Given the description of an element on the screen output the (x, y) to click on. 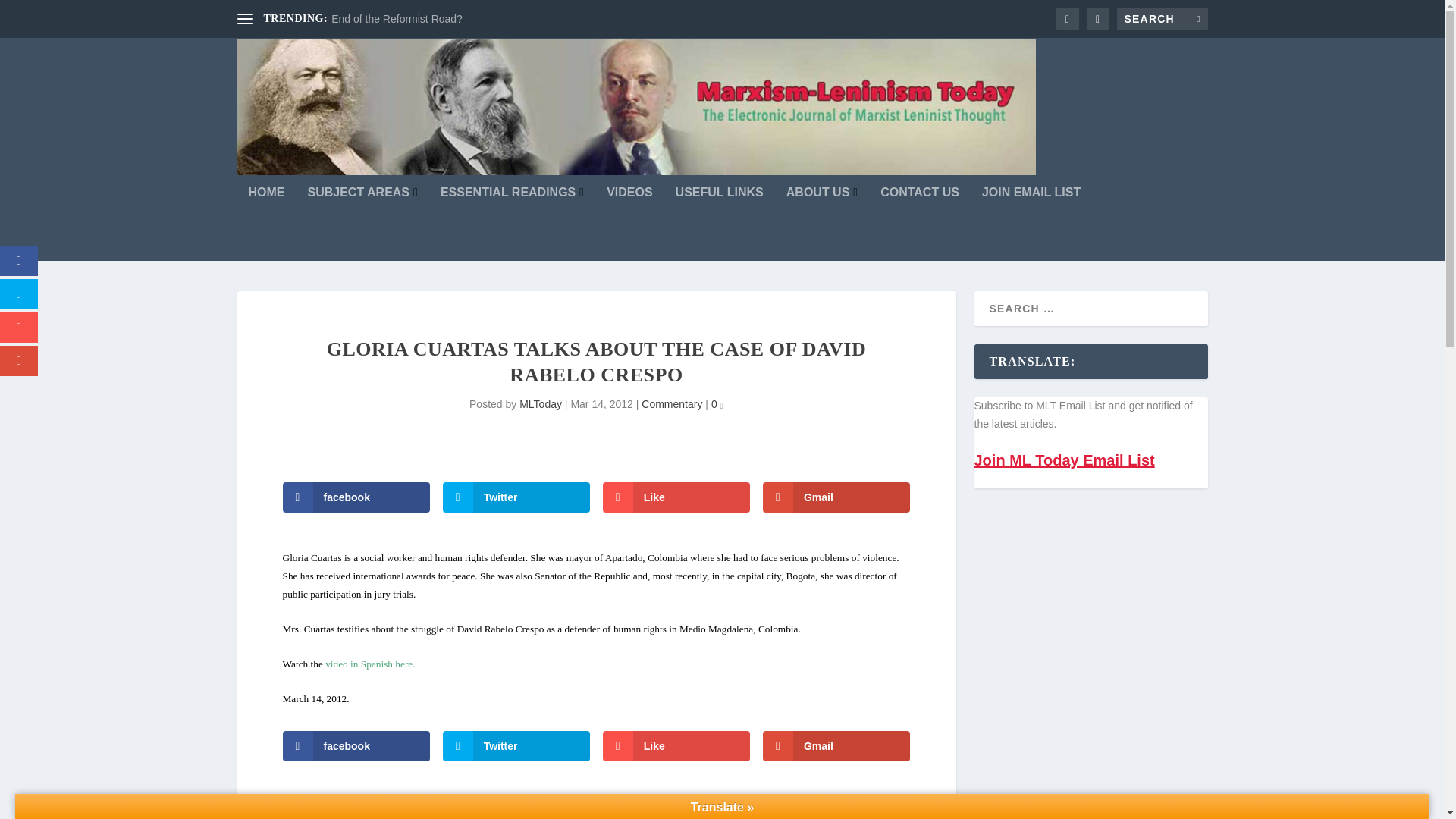
ESSENTIAL READINGS (512, 223)
SUBJECT AREAS (362, 223)
Search for: (1161, 18)
ABOUT US (821, 223)
End of the Reformist Road? (397, 19)
Posts by MLToday (540, 404)
USEFUL LINKS (718, 223)
